Given the description of an element on the screen output the (x, y) to click on. 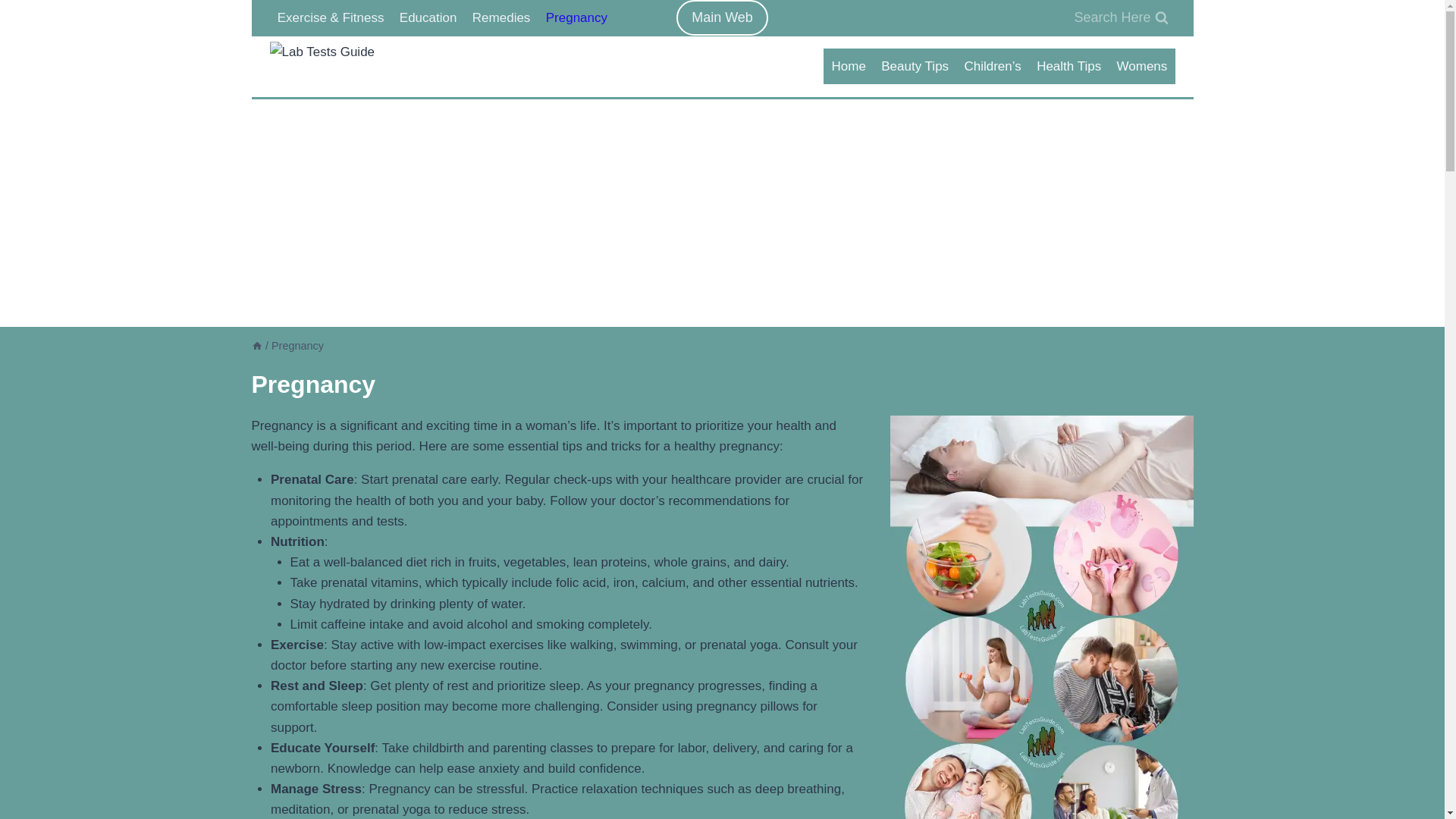
Health Tips (1068, 66)
Main Web (722, 18)
Beauty Tips (914, 66)
Womens (1141, 66)
Education (427, 18)
Search Here (1120, 18)
Home (848, 66)
Remedies (501, 18)
Pregnancy (576, 18)
